Given the description of an element on the screen output the (x, y) to click on. 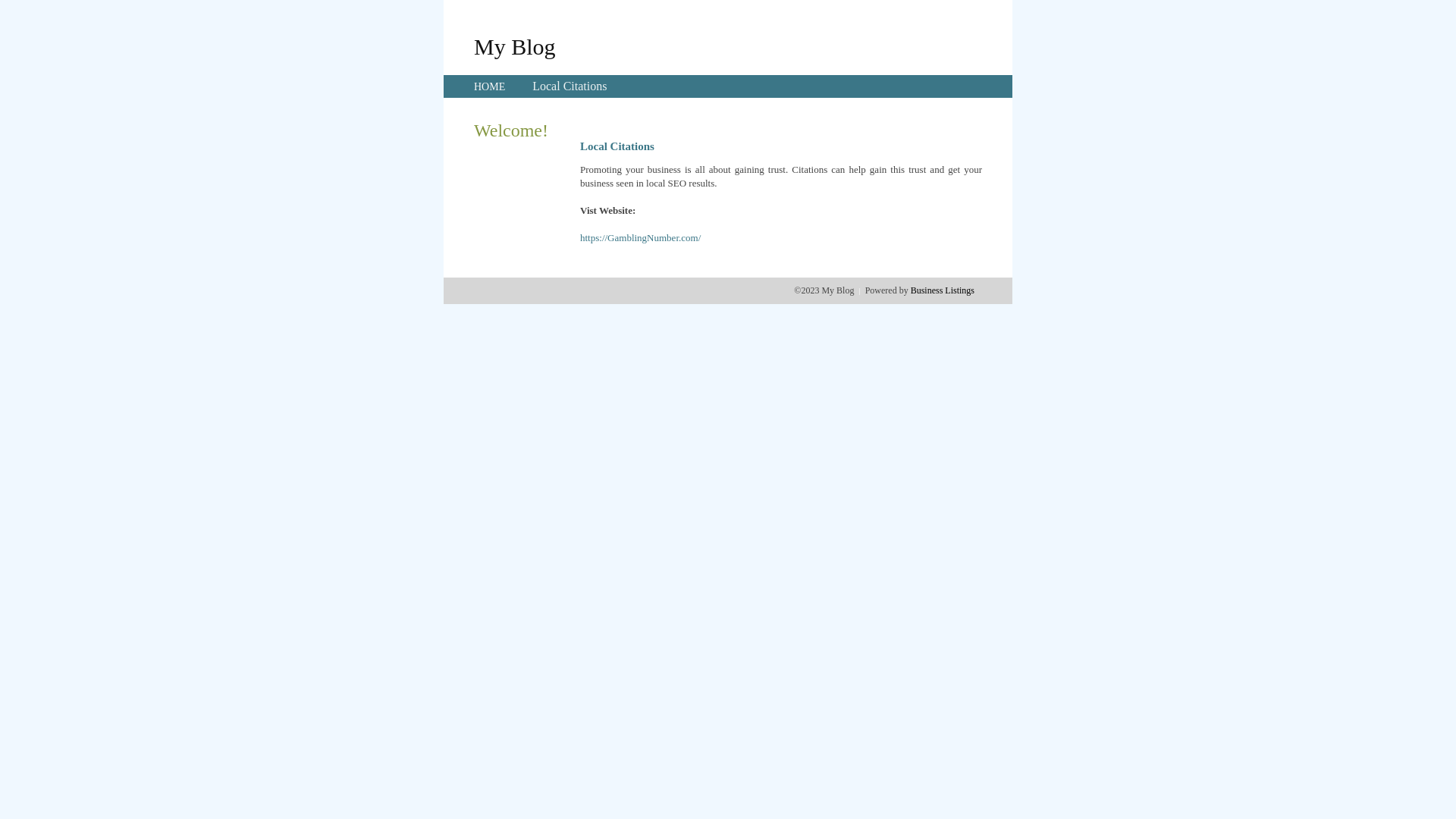
Local Citations Element type: text (569, 85)
HOME Element type: text (489, 86)
My Blog Element type: text (514, 46)
Business Listings Element type: text (942, 290)
https://GamblingNumber.com/ Element type: text (640, 237)
